Given the description of an element on the screen output the (x, y) to click on. 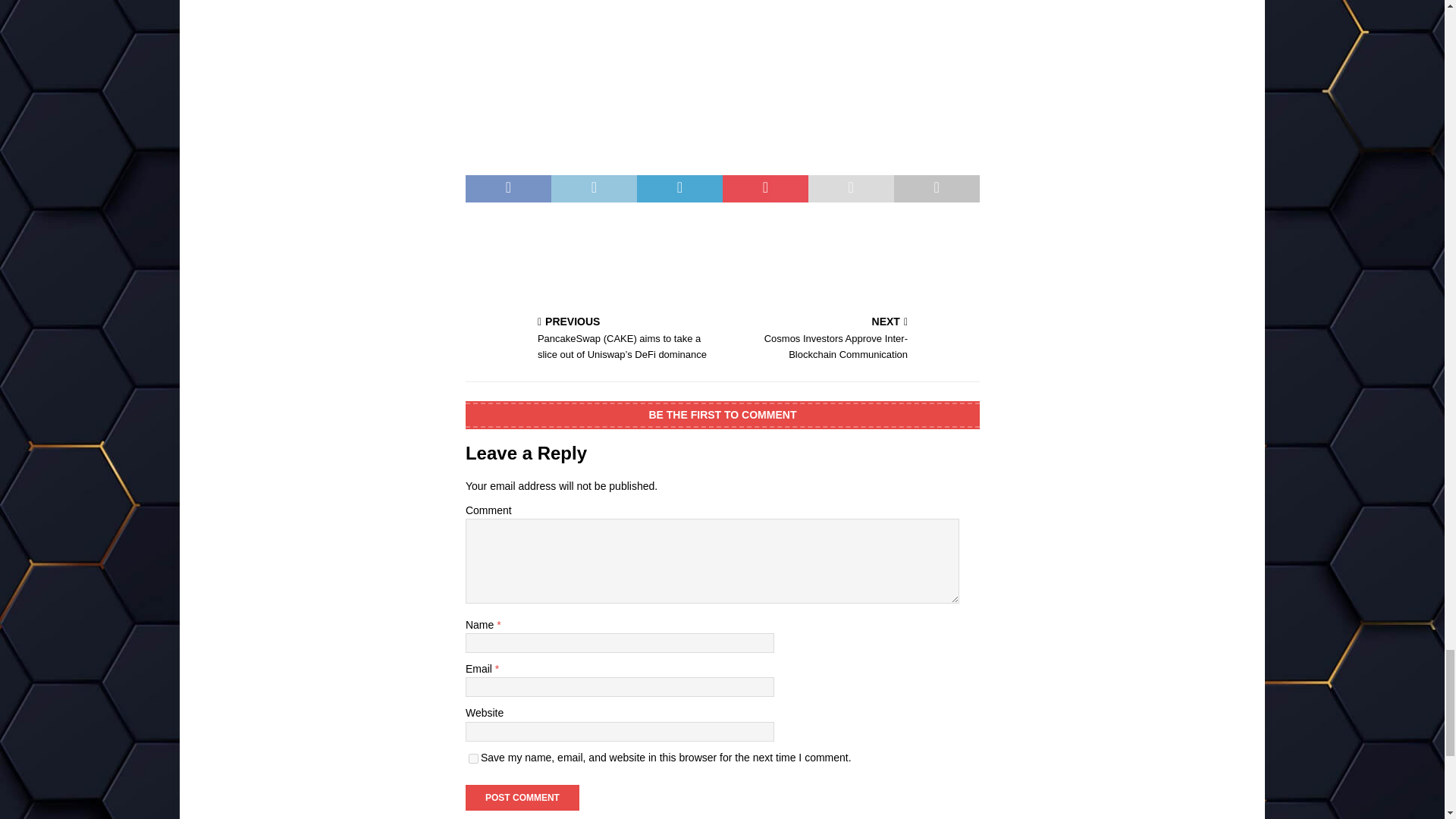
Post Comment (522, 797)
yes (473, 758)
